Given the description of an element on the screen output the (x, y) to click on. 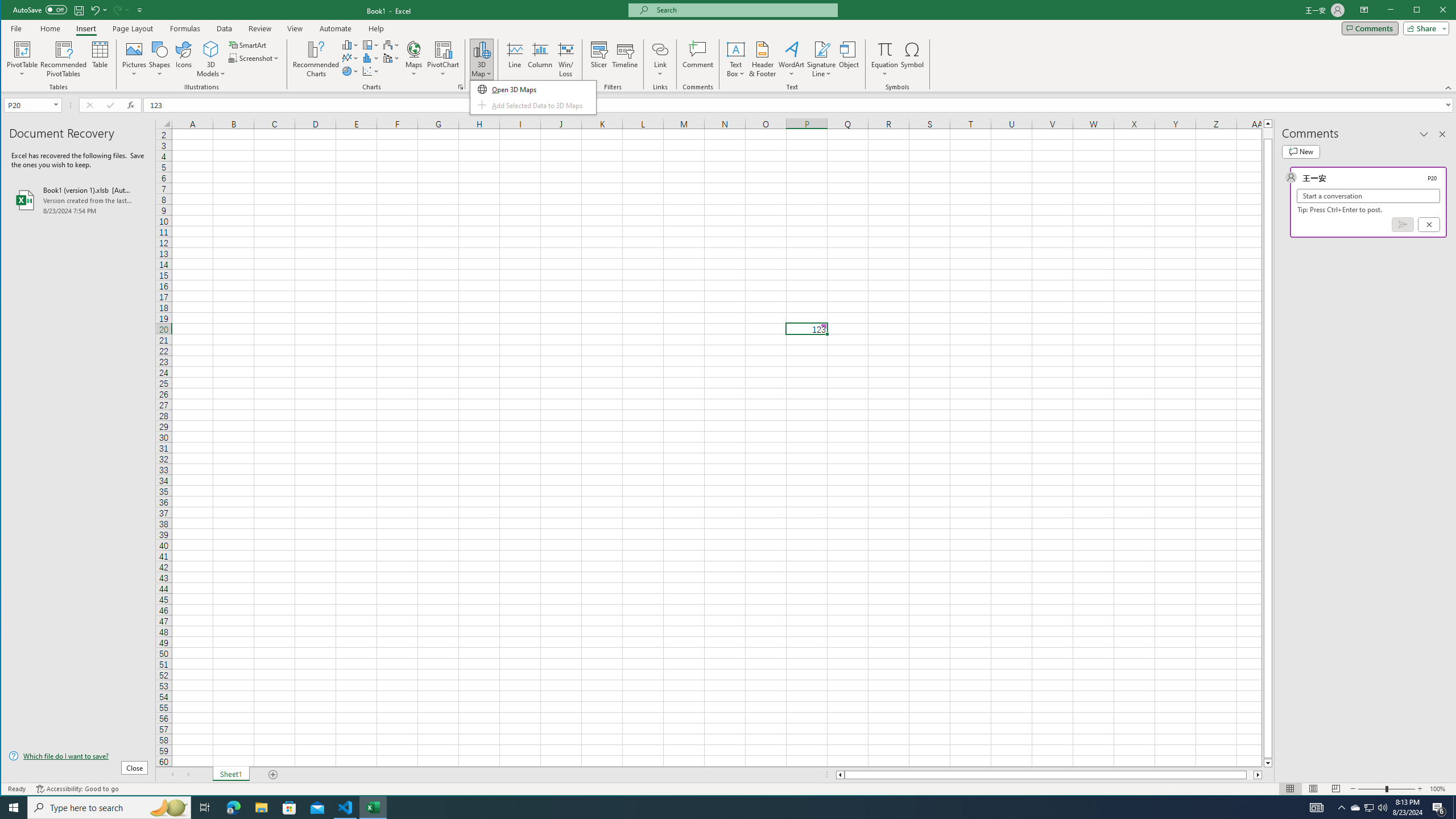
Comment (697, 59)
Timeline (625, 59)
AutomationID: 4105 (1316, 807)
Signature Line (821, 48)
Line (514, 59)
Maximize (1432, 11)
New comment (1300, 151)
